Given the description of an element on the screen output the (x, y) to click on. 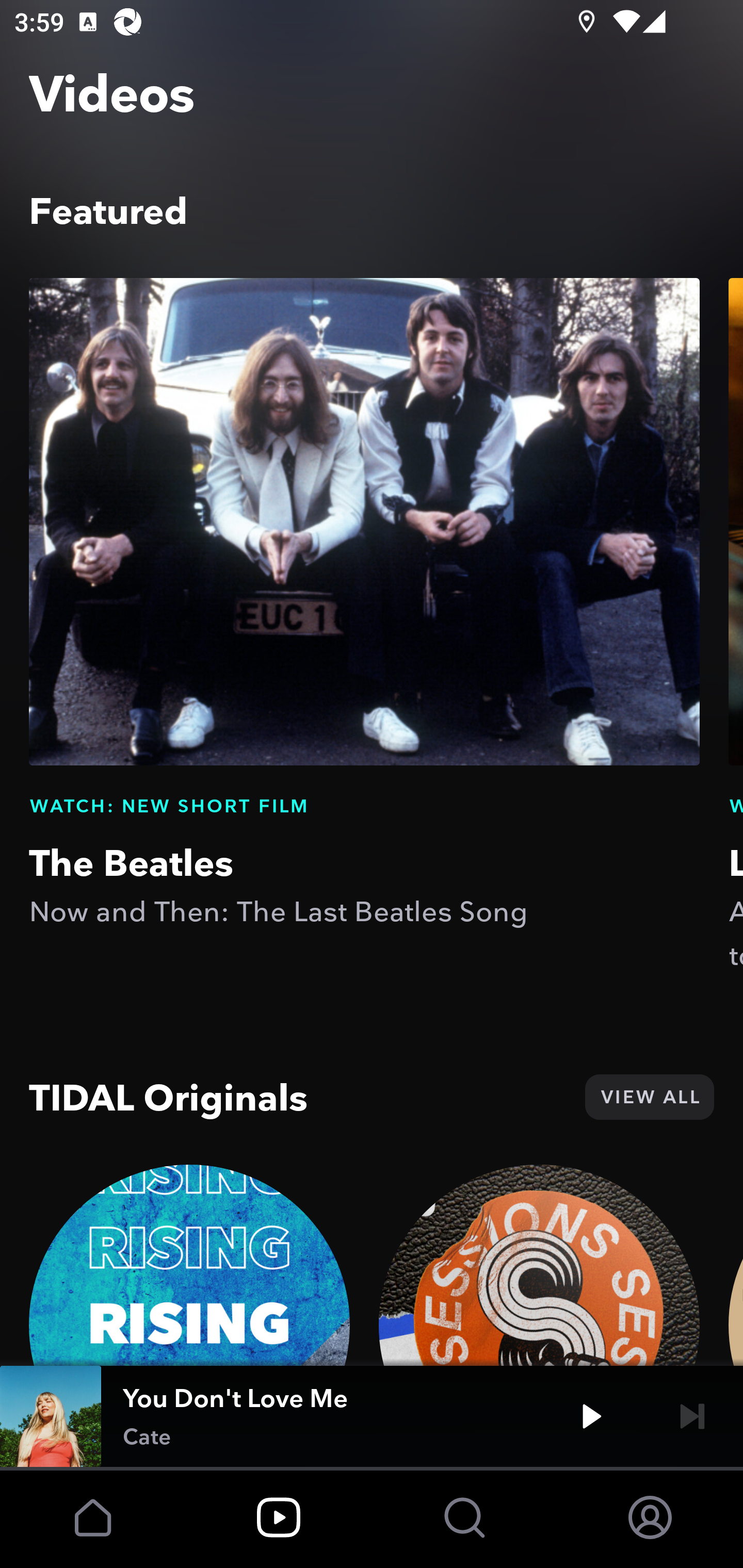
VIEW ALL (649, 1096)
You Don't Love Me Cate Play (371, 1416)
Play (590, 1416)
